Given the description of an element on the screen output the (x, y) to click on. 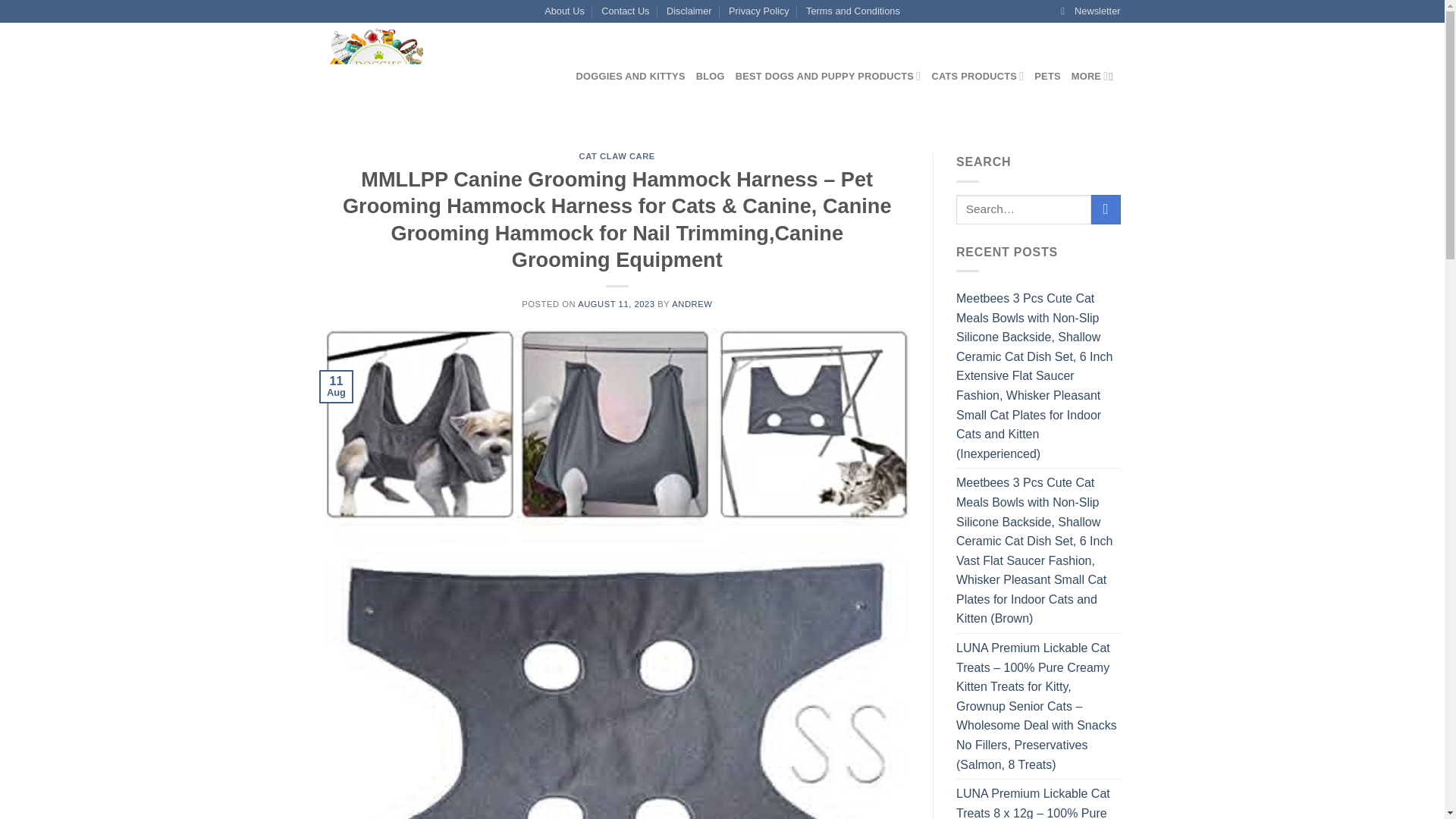
doggiesandkittys (438, 75)
CATS PRODUCTS (977, 75)
DOGGIES AND KITTYS (630, 75)
Contact Us (625, 11)
About Us (564, 11)
BLOG (710, 75)
Disclaimer (688, 11)
Terms and Conditions (852, 11)
Privacy Policy (759, 11)
Newsletter (1090, 11)
